Given the description of an element on the screen output the (x, y) to click on. 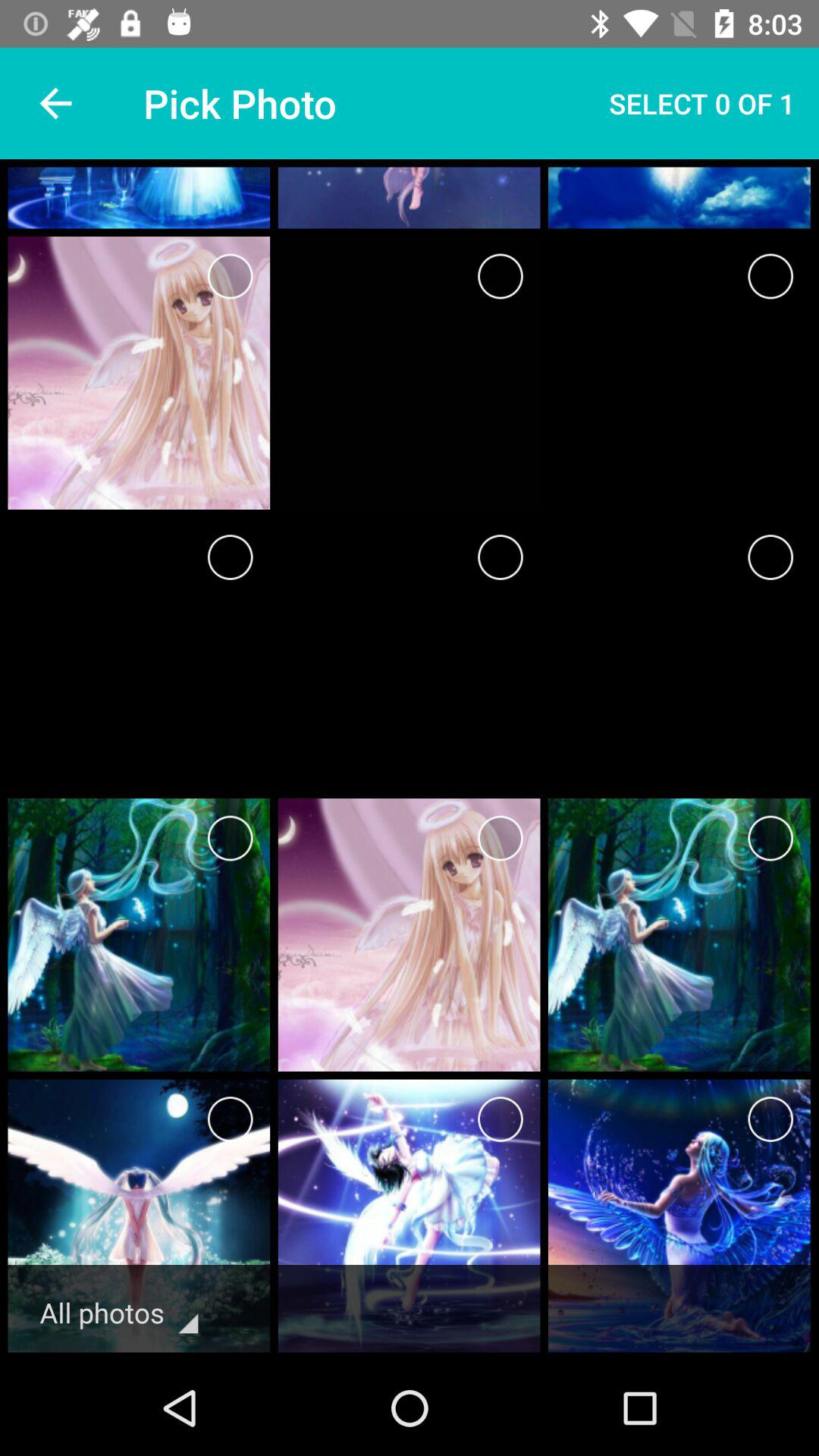
advertisement (500, 838)
